Given the description of an element on the screen output the (x, y) to click on. 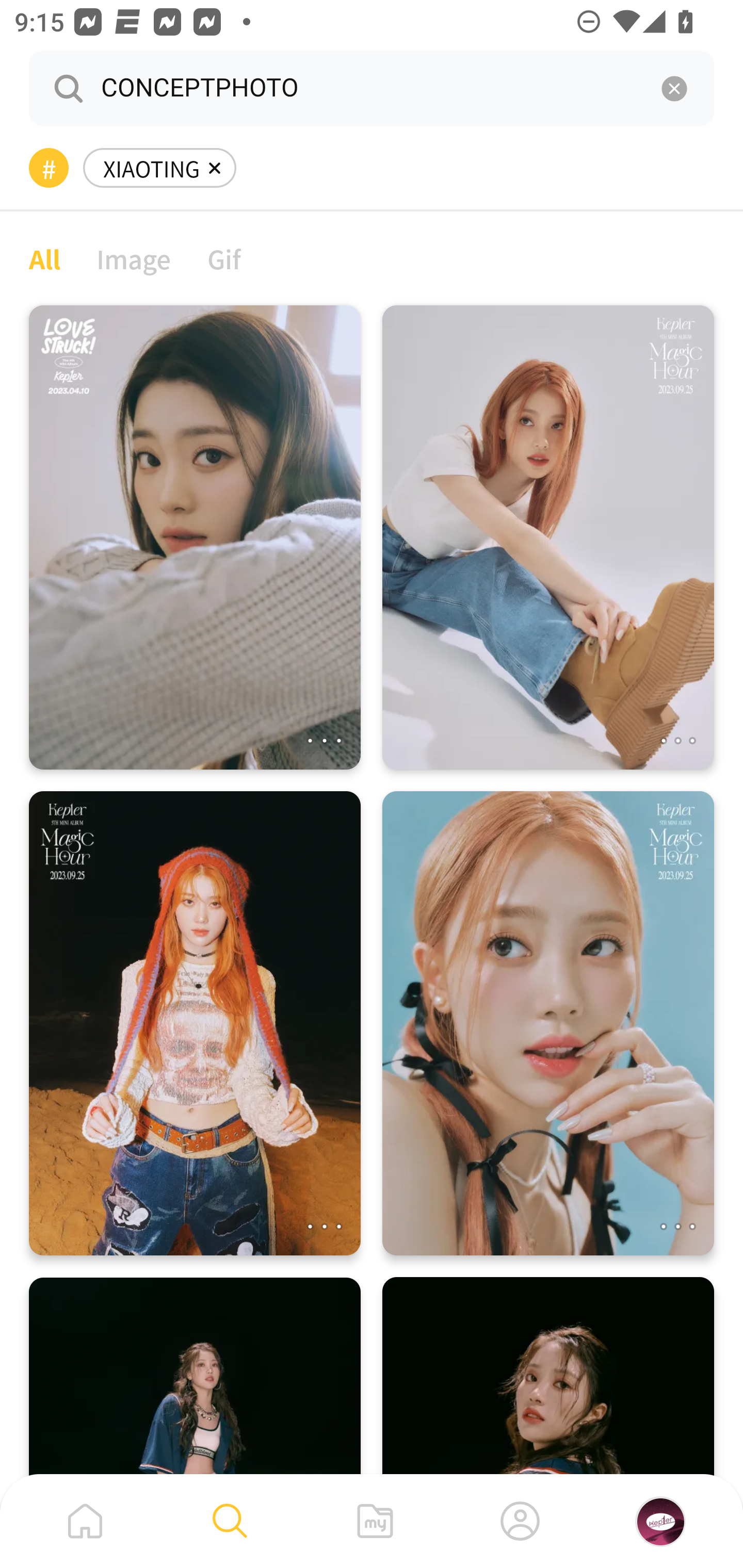
All (44, 257)
Image (133, 257)
Gif (223, 257)
